Given the description of an element on the screen output the (x, y) to click on. 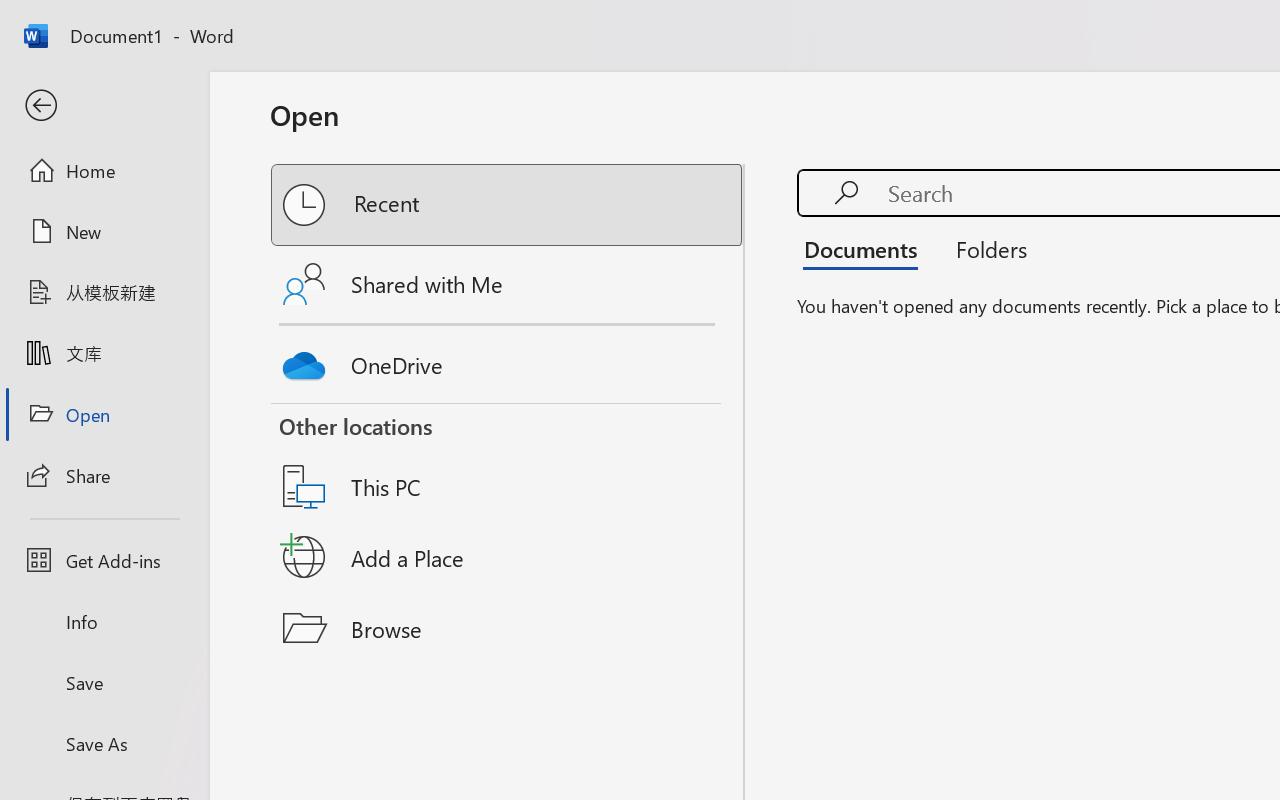
Save As (104, 743)
New (104, 231)
Back (104, 106)
Documents (866, 248)
Get Add-ins (104, 560)
Folders (984, 248)
Info (104, 621)
